Given the description of an element on the screen output the (x, y) to click on. 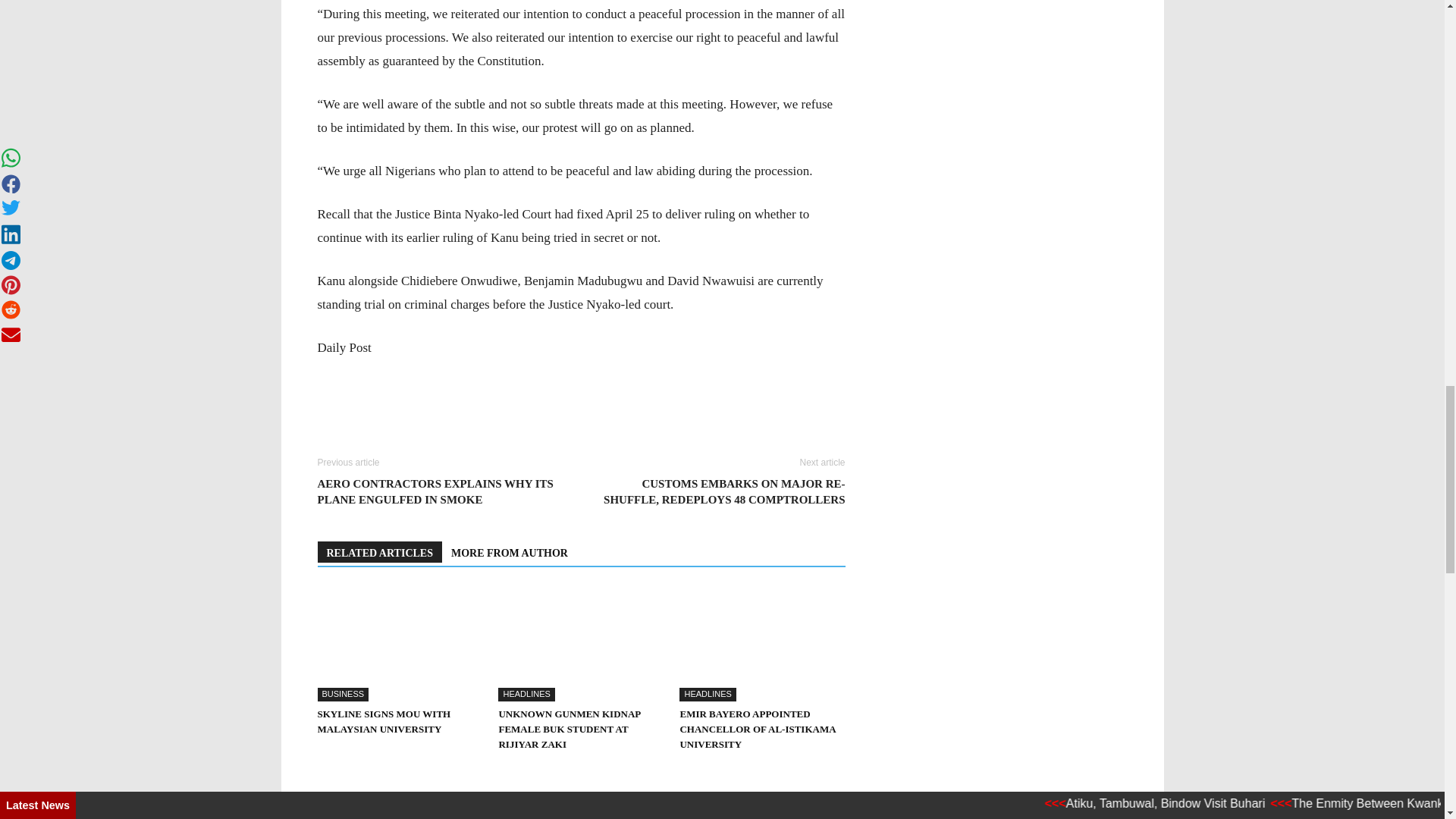
Skyline Signs MoU With Malaysian University (399, 644)
bottomFacebookLike (430, 442)
